Given the description of an element on the screen output the (x, y) to click on. 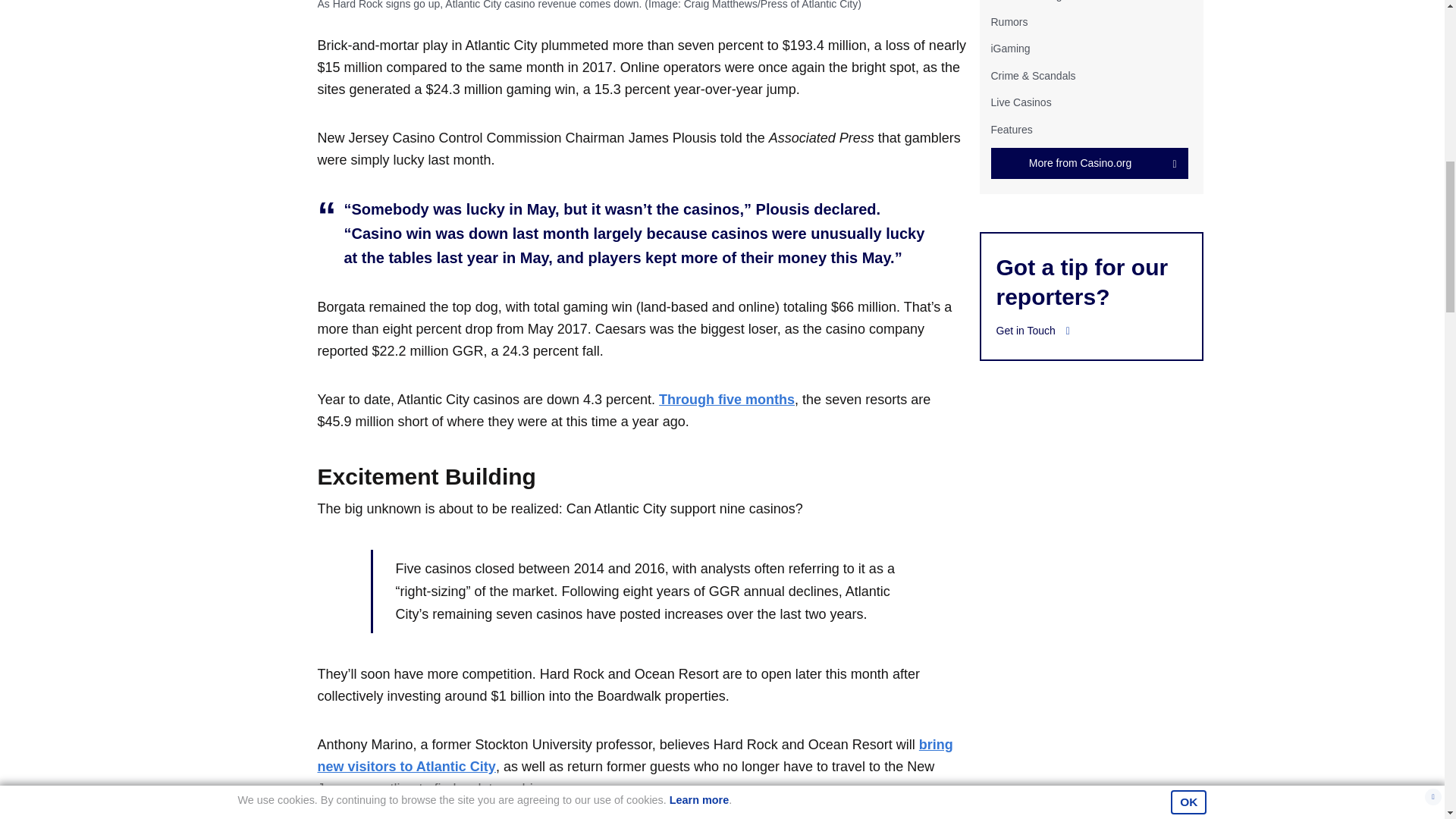
Features (1011, 128)
Live Casinos (1020, 102)
iGaming (1009, 48)
Through five months (726, 399)
Mobile Gaming (1025, 0)
bring new visitors to Atlantic City (634, 755)
Rumors (1008, 21)
